Given the description of an element on the screen output the (x, y) to click on. 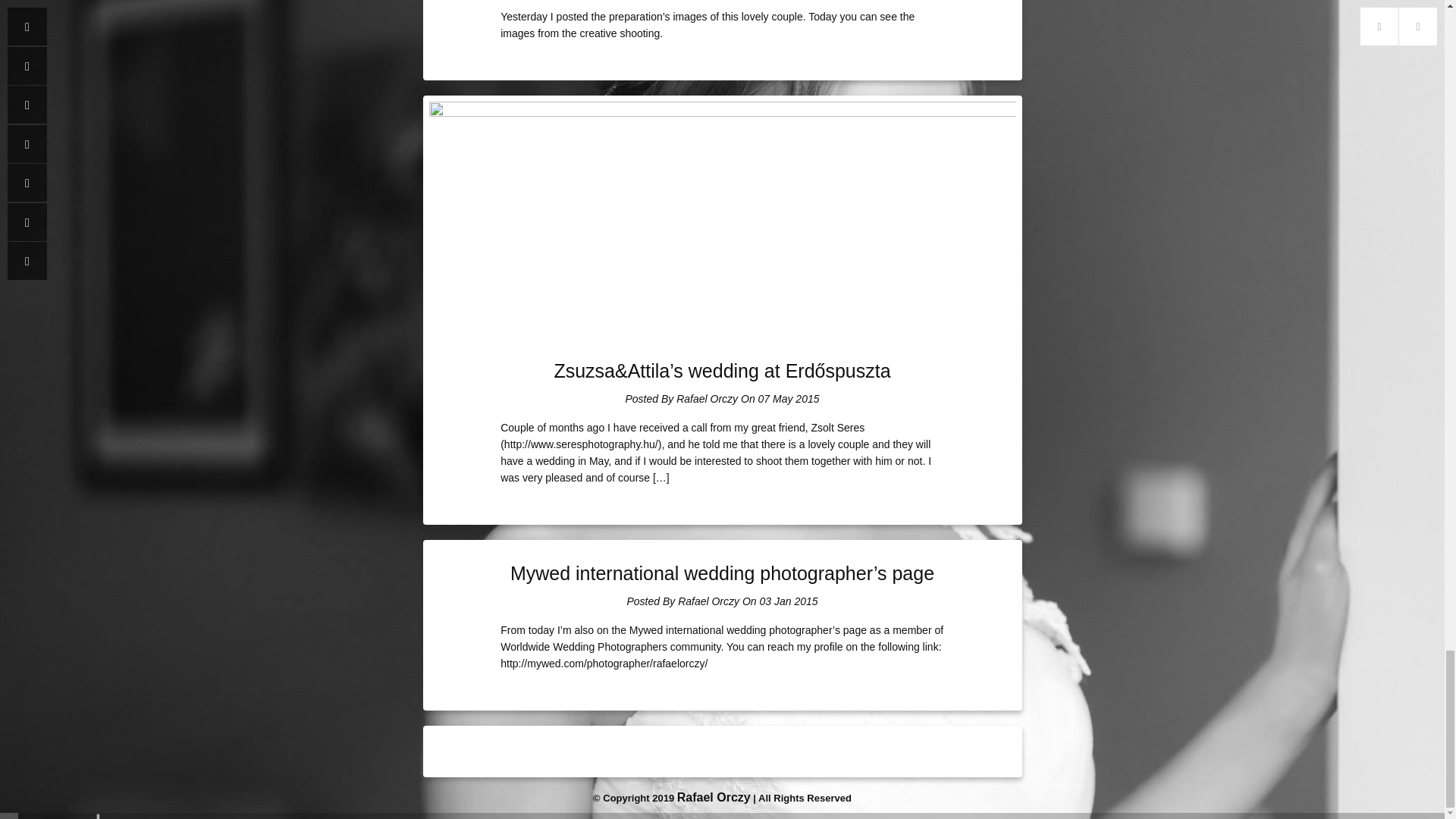
Posts by Rafael Orczy (708, 601)
Rafael Orczy (708, 601)
Rafael Orczy (707, 398)
Posts by Rafael Orczy (707, 398)
